Given the description of an element on the screen output the (x, y) to click on. 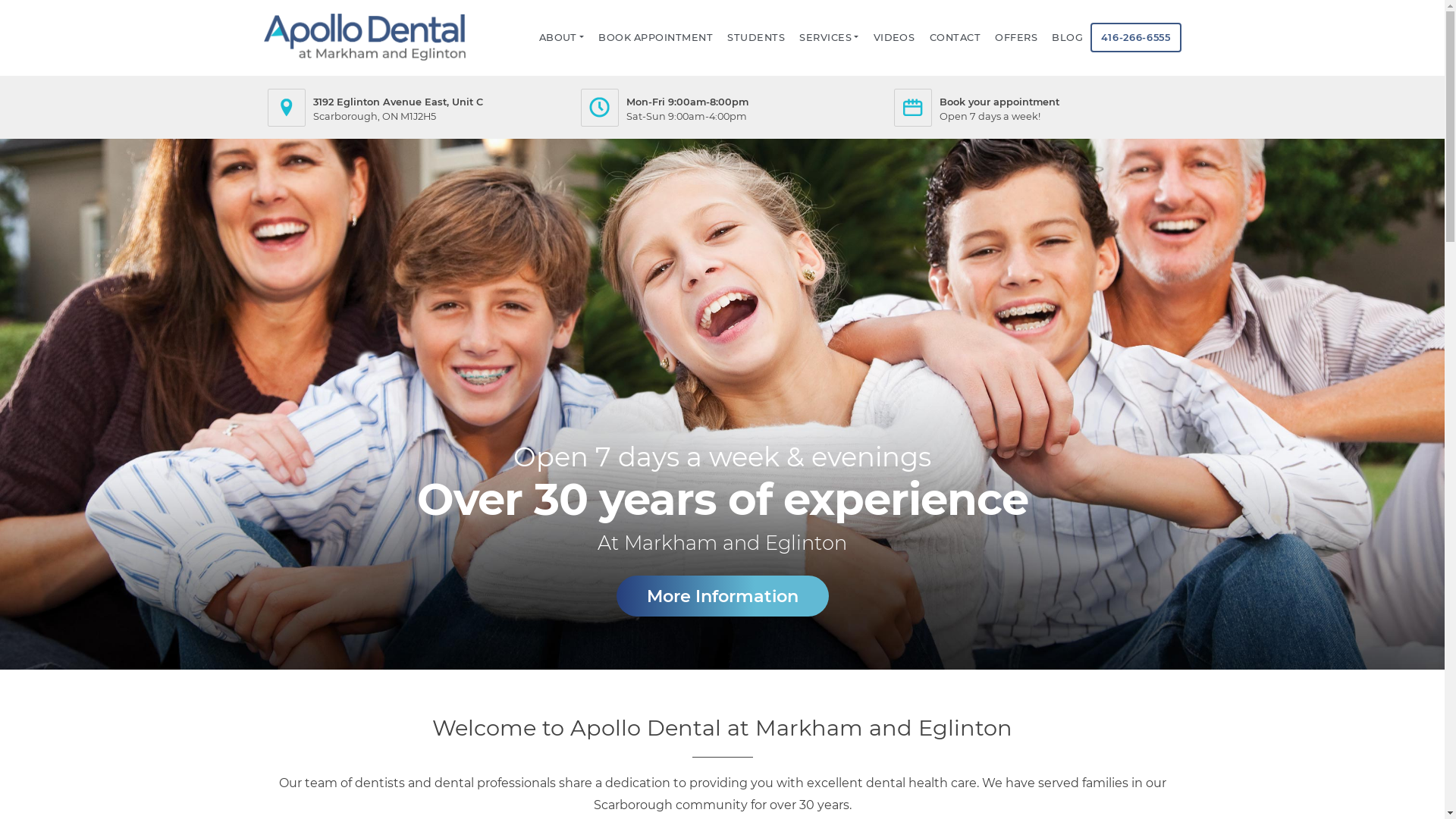
Skip to main content Element type: text (0, 0)
STUDENTS Element type: text (756, 37)
CONTACT Element type: text (955, 37)
OFFERS Element type: text (1016, 37)
SERVICES Element type: text (829, 37)
BOOK APPOINTMENT Element type: text (655, 37)
Book your appointment
Open 7 days a week! Element type: text (1035, 106)
More Information Element type: text (721, 595)
BLOG Element type: text (1067, 37)
416-266-6555 Element type: text (1135, 37)
ABOUT Element type: text (561, 37)
VIDEOS Element type: text (894, 37)
